Given the description of an element on the screen output the (x, y) to click on. 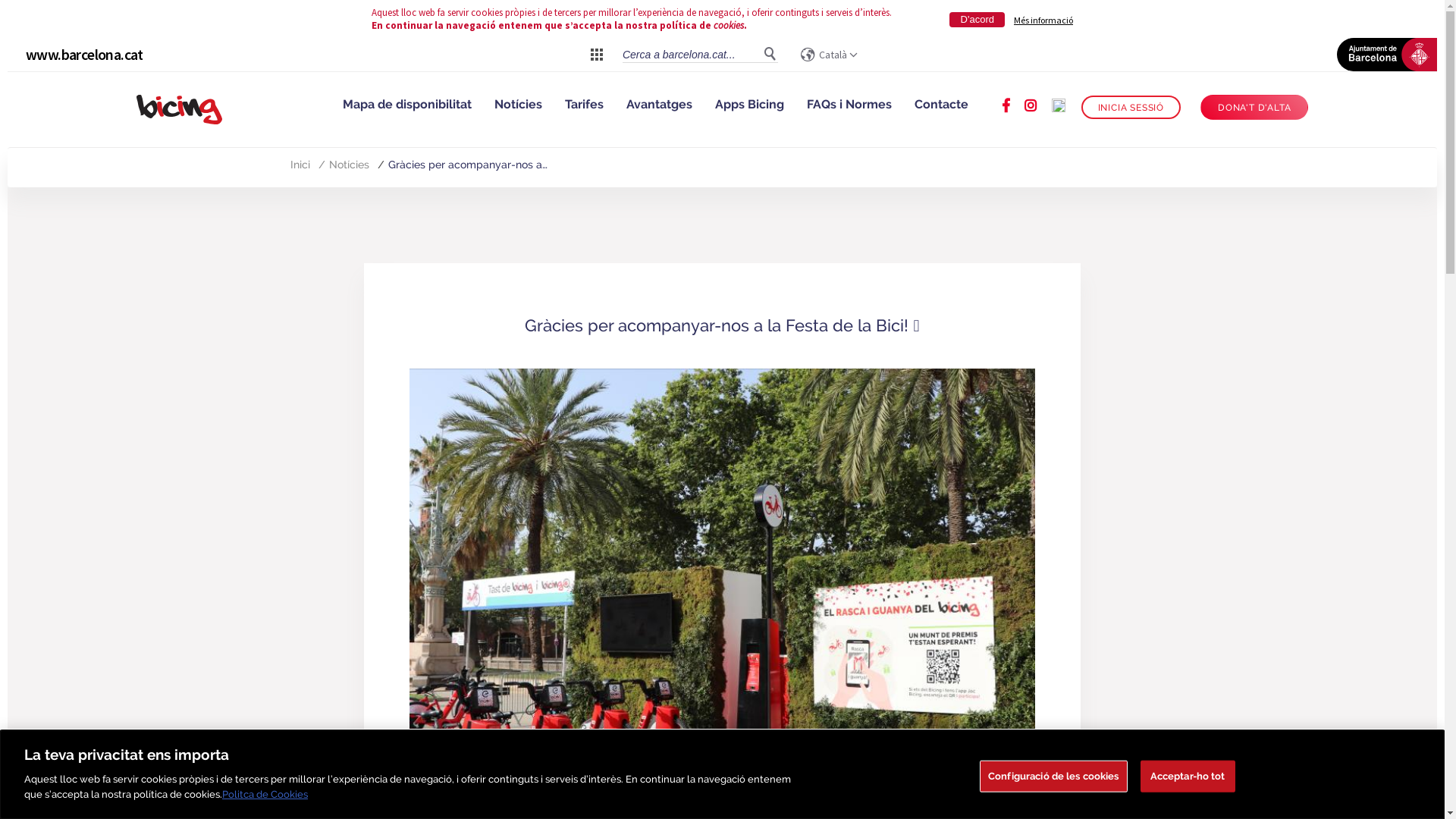
FAQs i Normes Element type: text (848, 104)
cookies Element type: text (728, 24)
Politca de Cookies Element type: text (264, 793)
Avantatges Element type: text (659, 104)
Contacte Element type: text (941, 104)
Acceptar-ho tot Element type: text (1187, 775)
Inici Element type: text (299, 164)
Dreceres de barcelona.cat Element type: hover (596, 53)
DONA'T D'ALTA Element type: text (1254, 106)
Mapa de disponibilitat Element type: text (406, 104)
Apps Bicing Element type: text (749, 104)
Tarifes Element type: text (583, 104)
www.barcelona.cat Element type: text (84, 53)
D'acord Element type: text (976, 19)
